Given the description of an element on the screen output the (x, y) to click on. 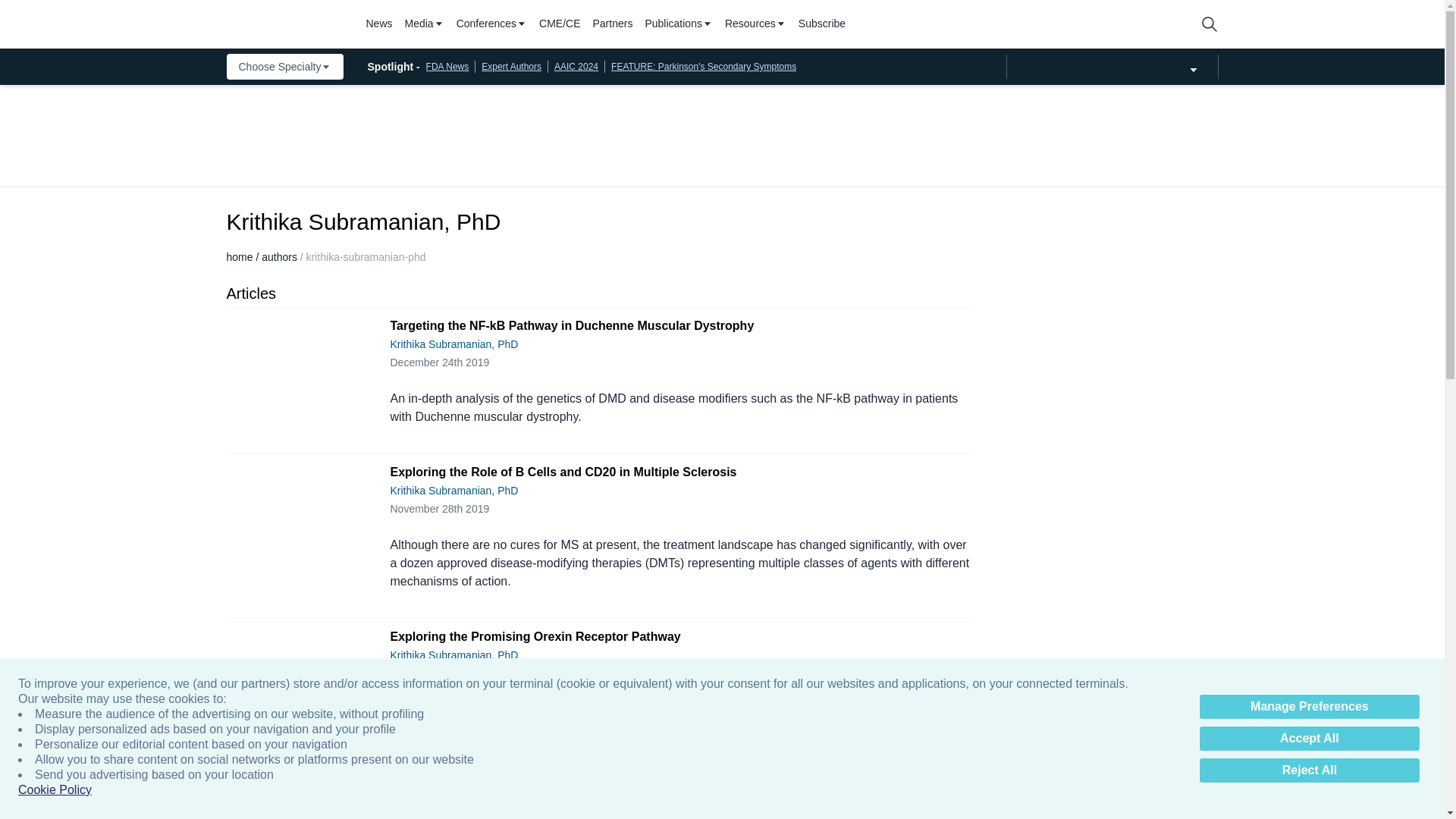
Cookie Policy (54, 789)
CGRP: Paving the Path to Migraine and Its Treatment (298, 814)
Publications (679, 23)
Conferences (492, 23)
Media (424, 23)
Exploring the Promising Orexin Receptor Pathway (298, 706)
Reject All (1309, 769)
Partners (612, 23)
Manage Preferences (1309, 706)
Accept All (1309, 738)
